Given the description of an element on the screen output the (x, y) to click on. 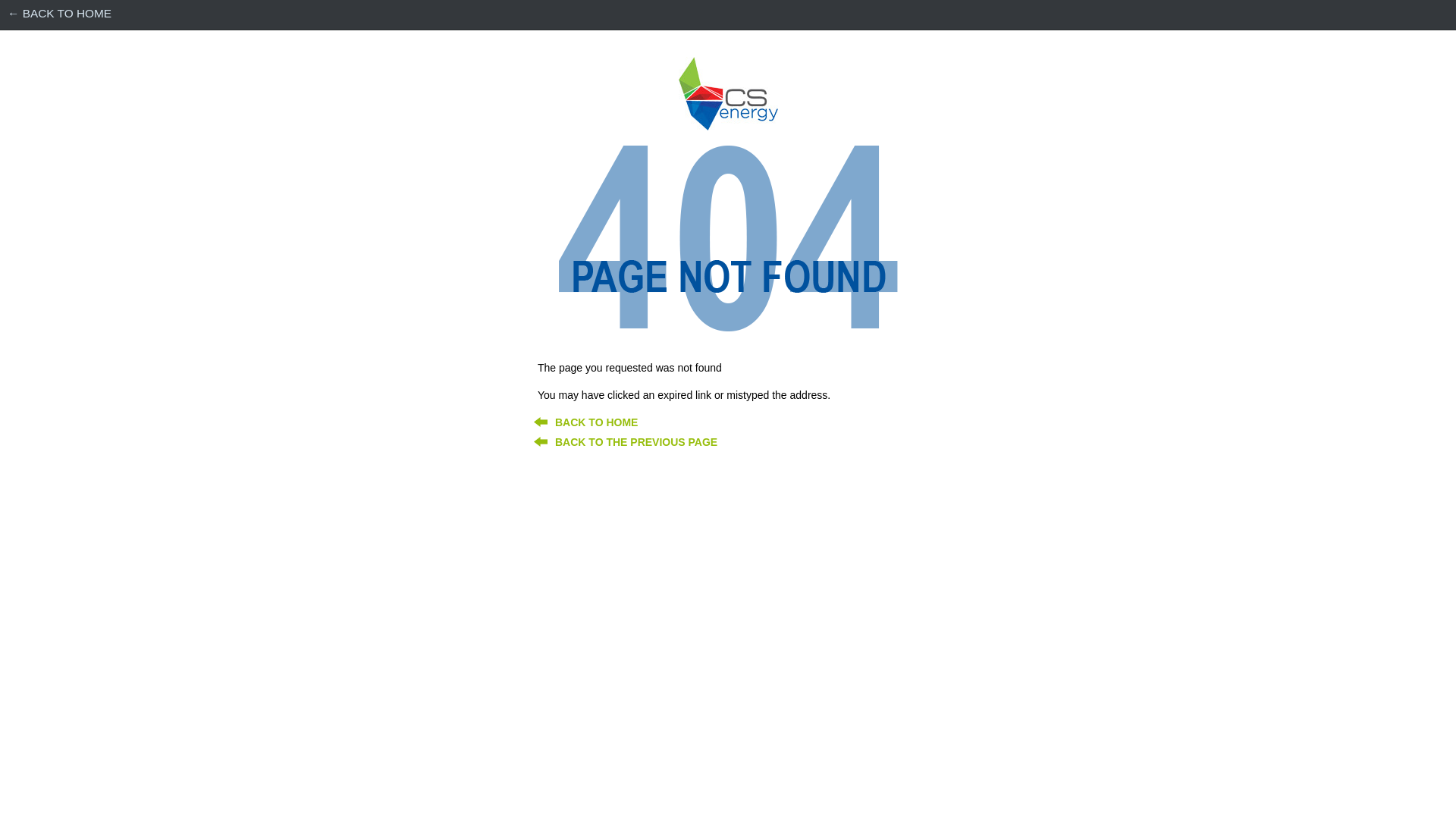
BACK TO THE PREVIOUS PAGE Element type: text (636, 442)
BACK TO HOME Element type: text (596, 422)
